Given the description of an element on the screen output the (x, y) to click on. 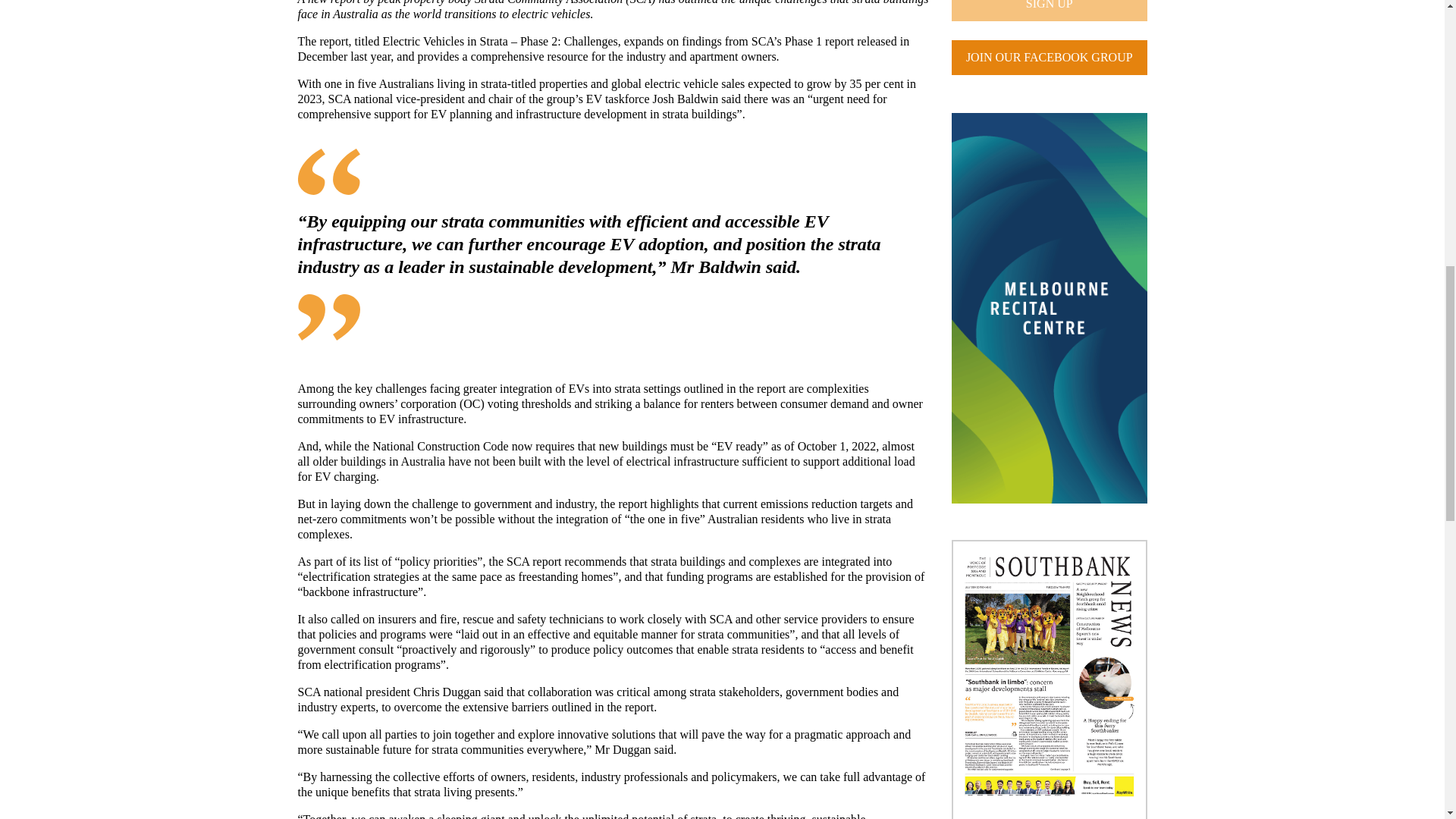
SIGN UP (1049, 10)
JOIN OUR FACEBOOK GROUP (1049, 57)
